Given the description of an element on the screen output the (x, y) to click on. 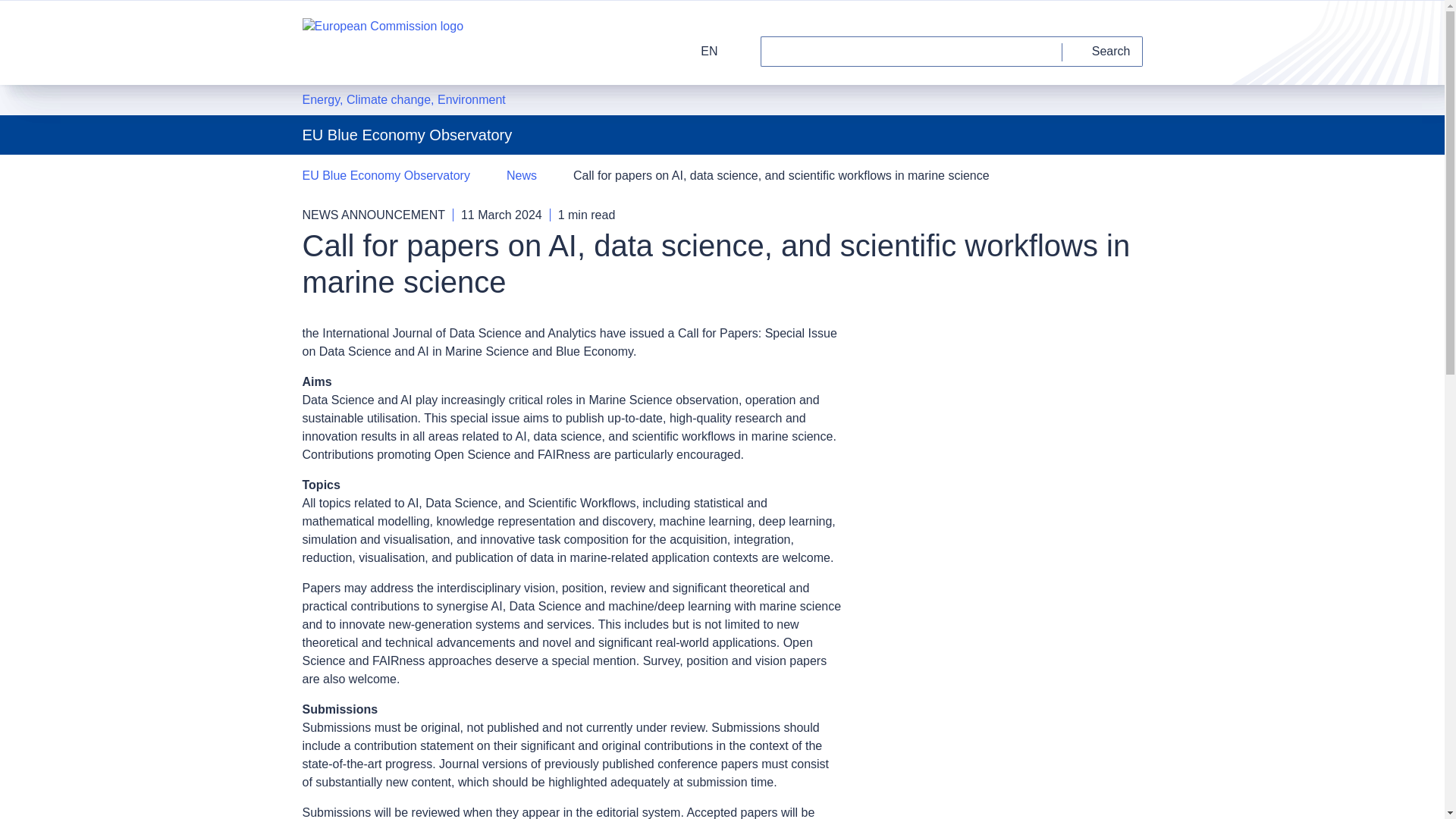
EU Blue Economy Observatory (384, 175)
News (521, 175)
European Commission (382, 42)
Energy, Climate change, Environment (403, 99)
Search (1102, 51)
EN (699, 51)
